Given the description of an element on the screen output the (x, y) to click on. 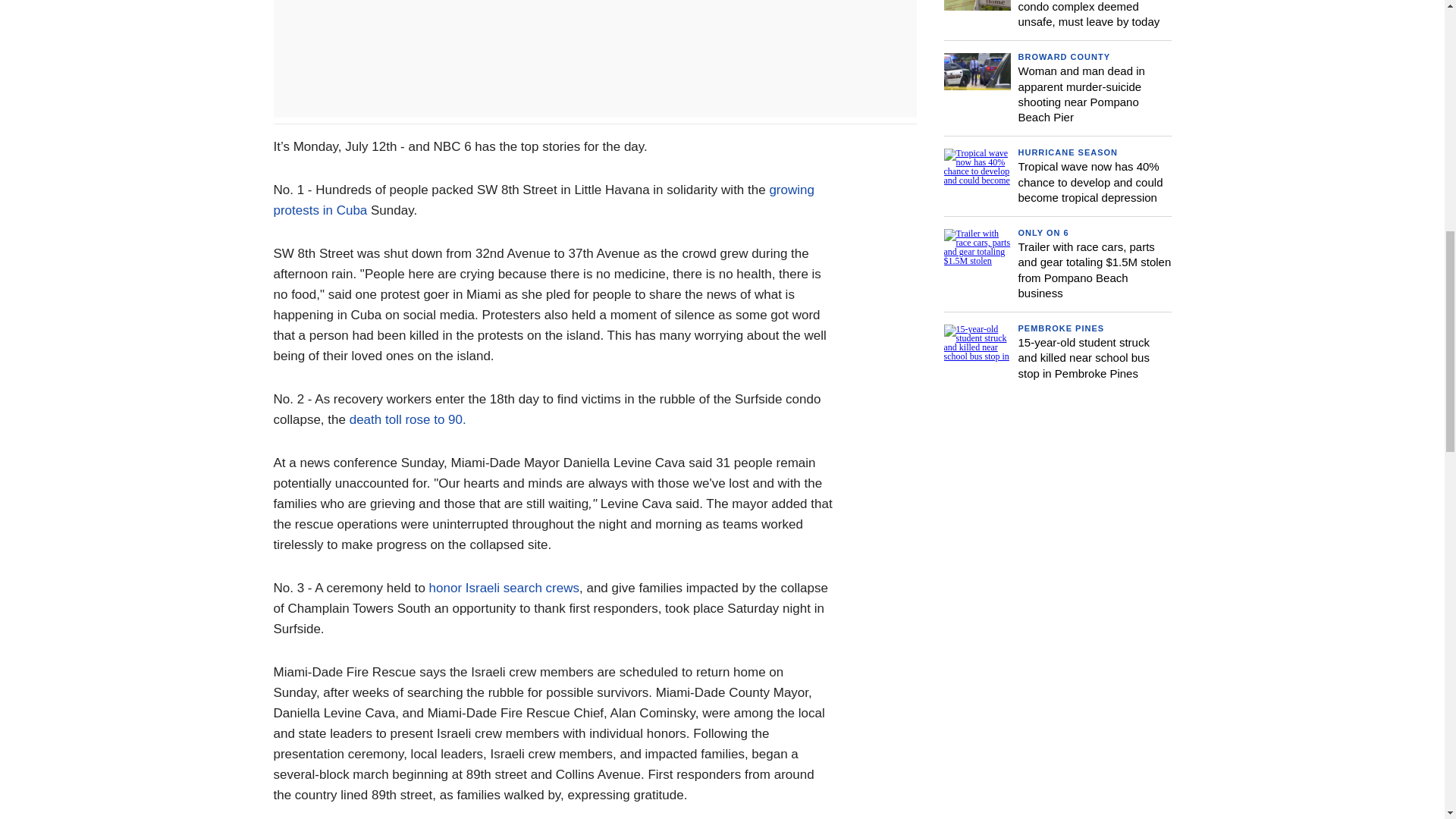
growing protests in Cuba (543, 199)
honor Israeli search crews (504, 587)
death toll rose to 90. (407, 419)
